Given the description of an element on the screen output the (x, y) to click on. 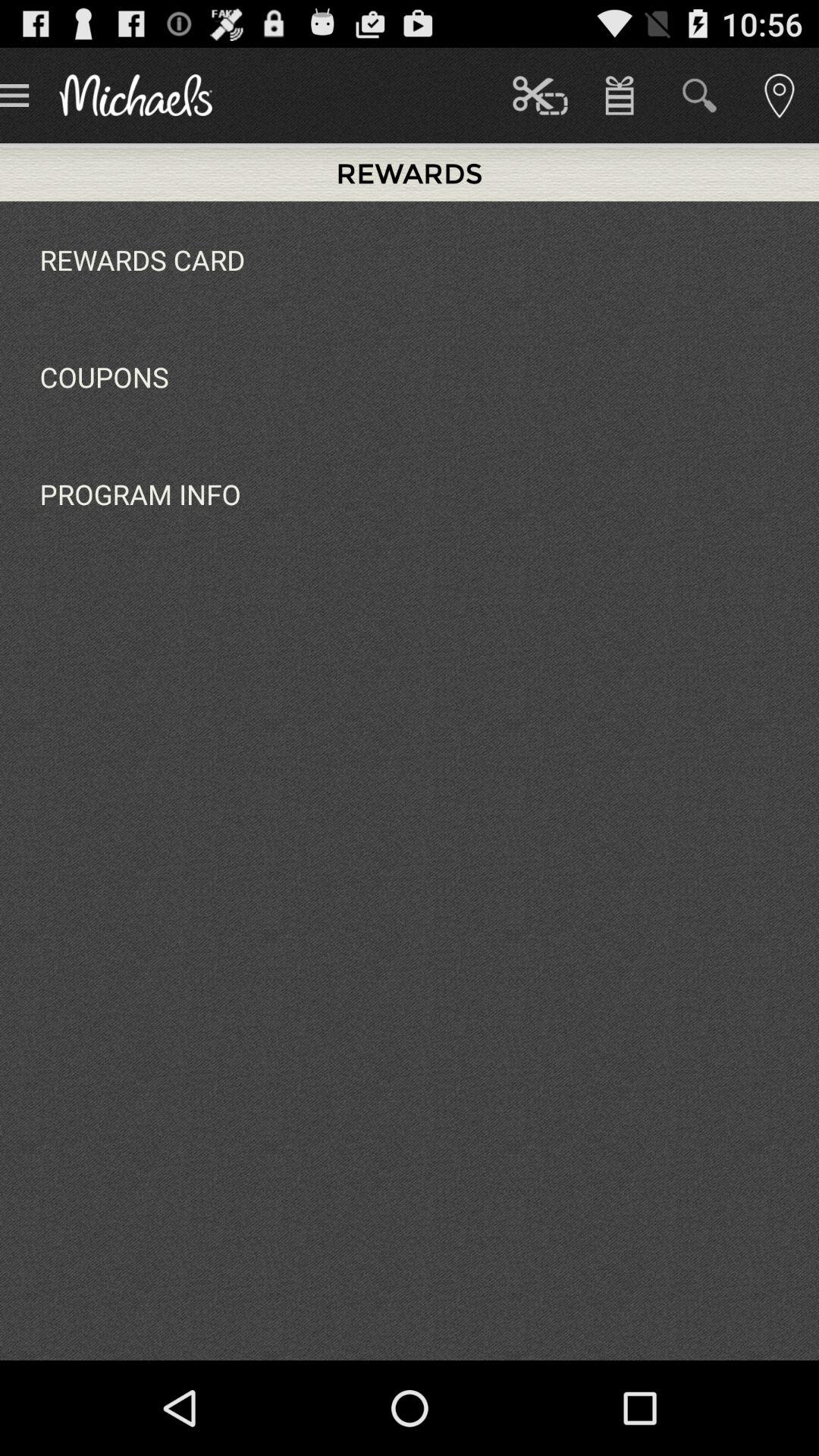
tap the app on the left (140, 494)
